Given the description of an element on the screen output the (x, y) to click on. 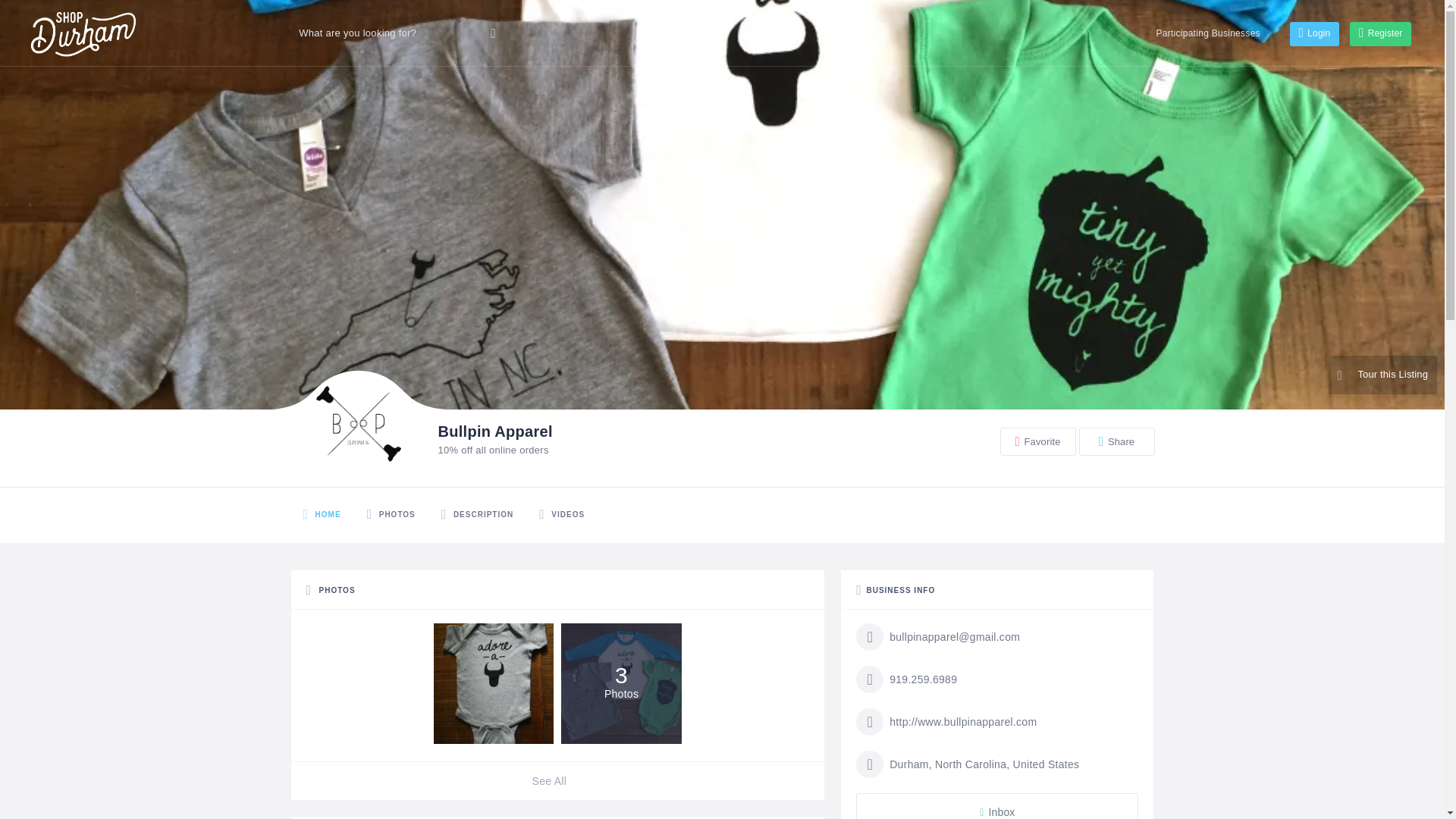
Inbox (997, 806)
Durham, North Carolina, United States (967, 764)
Tour this Listing (1382, 374)
HOME (321, 514)
919.259.6989 (906, 678)
Participating Businesses (1207, 33)
PHOTOS (390, 514)
VIDEOS (560, 514)
Register (1379, 33)
Favorite (1036, 441)
See All (558, 781)
Share (1116, 441)
DESCRIPTION (476, 514)
Login (1313, 33)
